Given the description of an element on the screen output the (x, y) to click on. 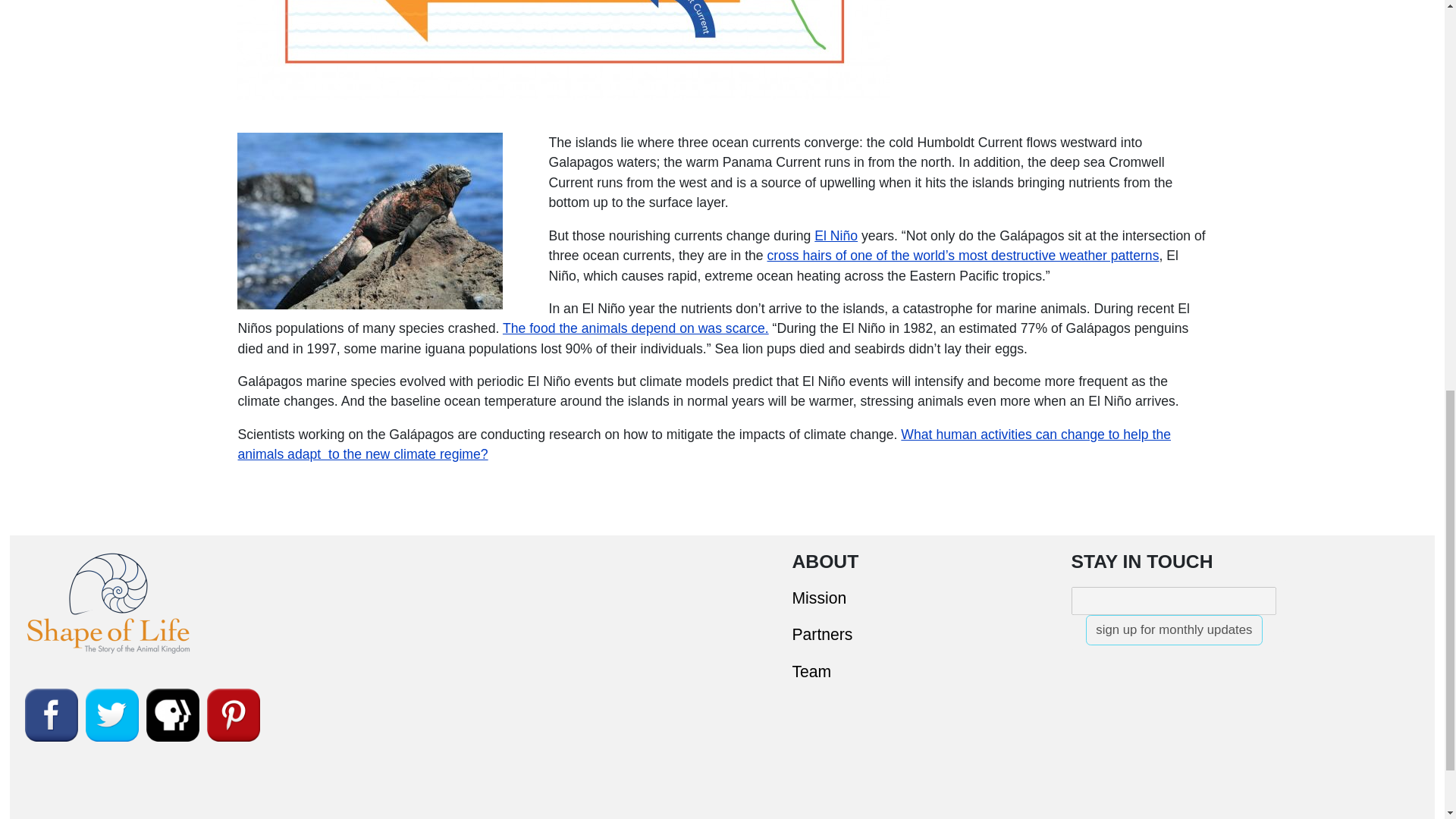
sign up for monthly updates (1174, 630)
